Given the description of an element on the screen output the (x, y) to click on. 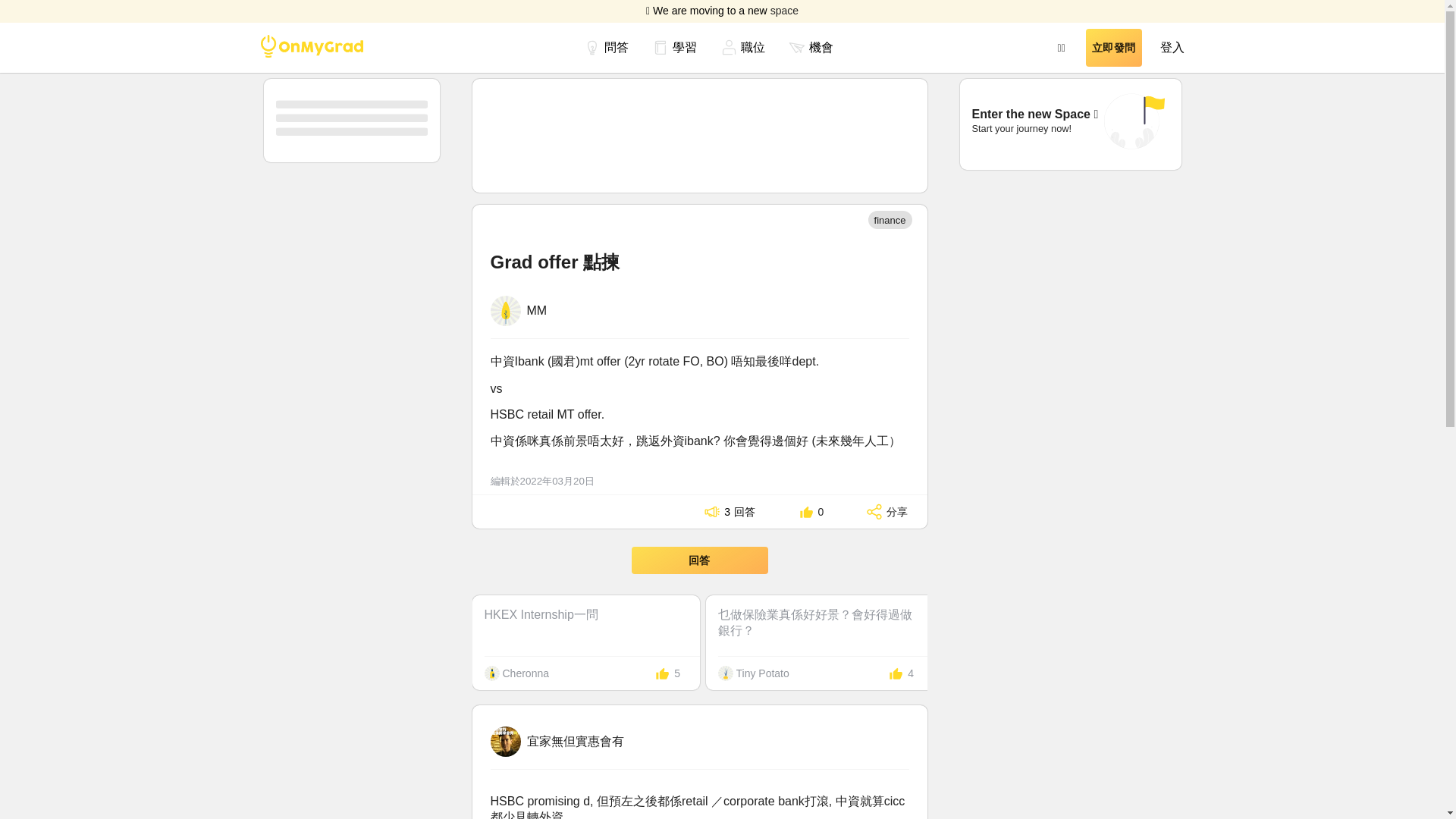
space (783, 10)
7 (1131, 673)
Start your journey now! (1021, 128)
4 (898, 673)
5 (664, 673)
MUFG Management Trainee - Corporate Banking Career Path (1052, 620)
0 (808, 511)
7 (1365, 673)
